Given the description of an element on the screen output the (x, y) to click on. 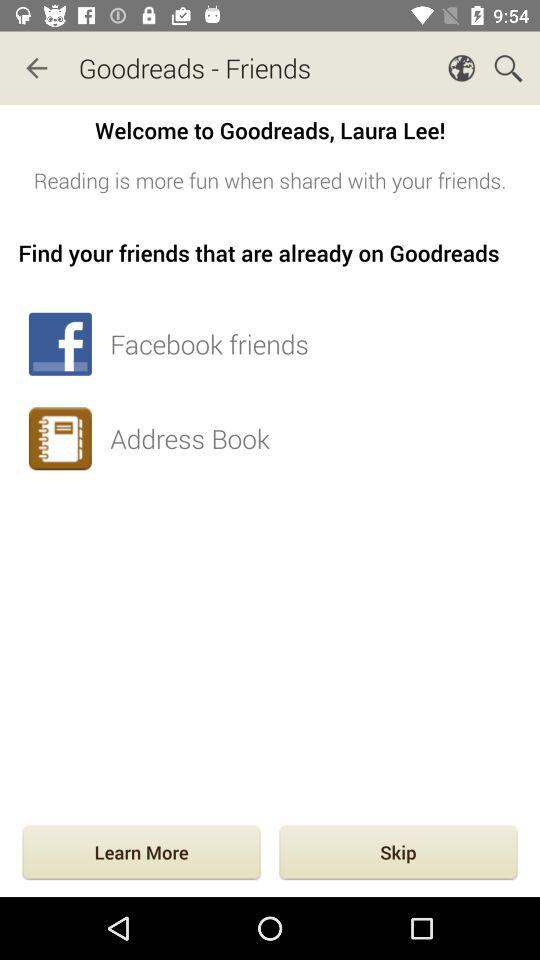
click the icon at the top left corner (36, 68)
